Given the description of an element on the screen output the (x, y) to click on. 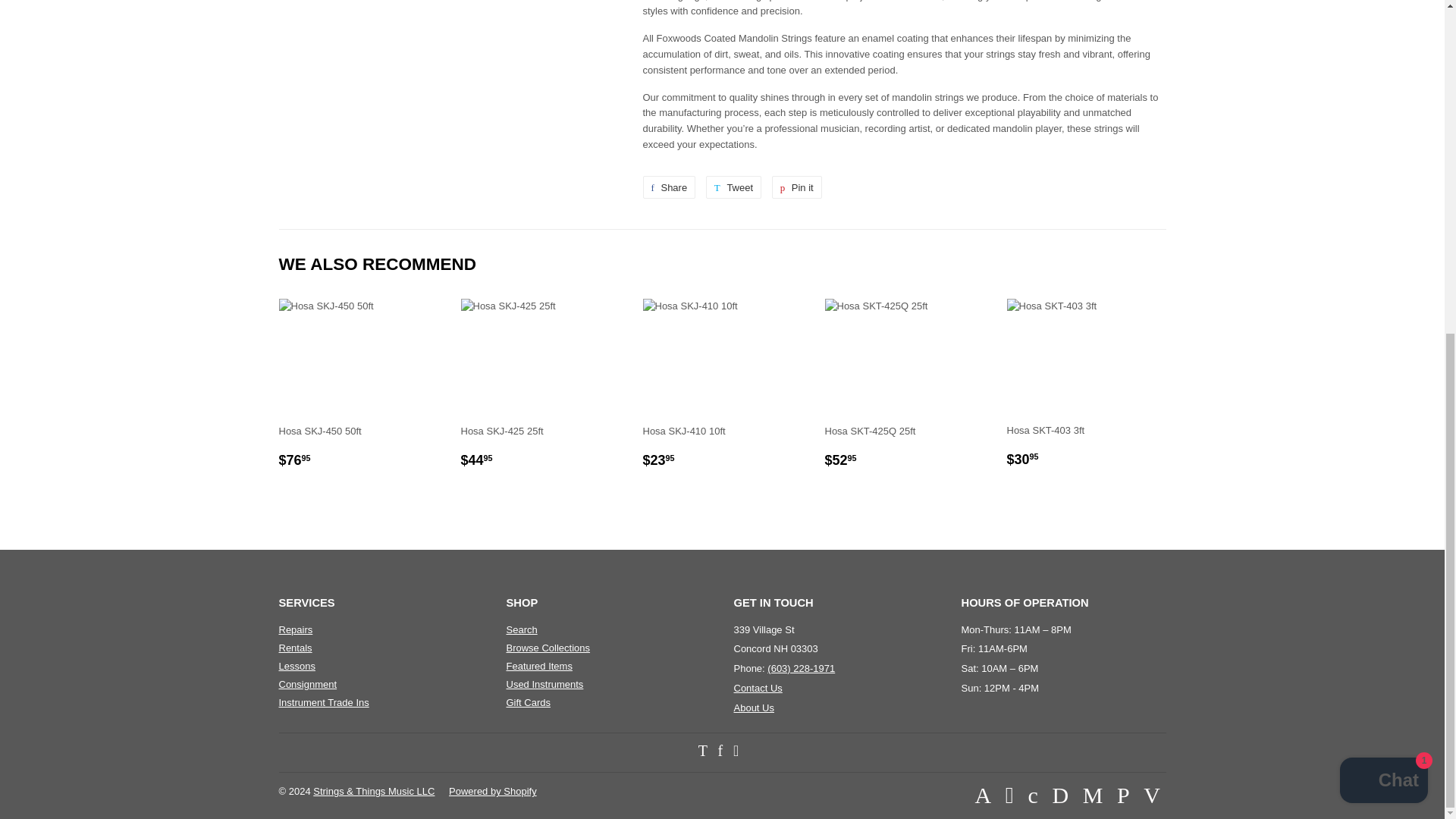
Tweet on Twitter (733, 187)
Pin on Pinterest (796, 187)
About Us (753, 707)
Contact Us (758, 687)
Shopify online store chat (1383, 225)
Share on Facebook (669, 187)
